Given the description of an element on the screen output the (x, y) to click on. 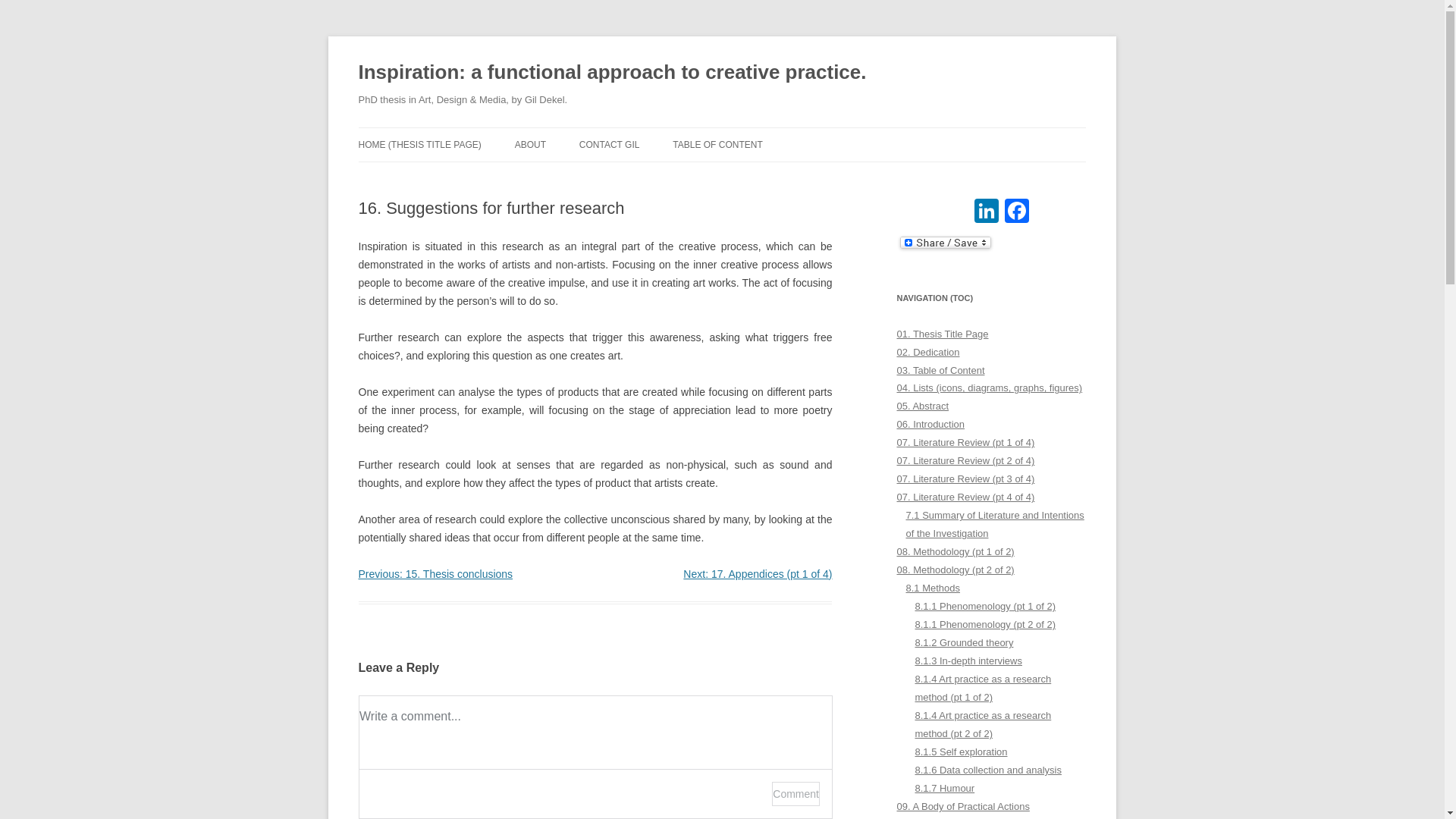
15. Thesis conclusions (435, 573)
8.1.3 In-depth interviews (968, 660)
TABLE OF CONTENT (716, 144)
ABOUT (530, 144)
03. Table of Content (940, 369)
8.1.7 Humour (944, 787)
Inspiration: a functional approach to creative practice. (612, 72)
01. Thesis Title Page (942, 333)
Inspiration: a functional approach to creative practice. (612, 72)
